Given the description of an element on the screen output the (x, y) to click on. 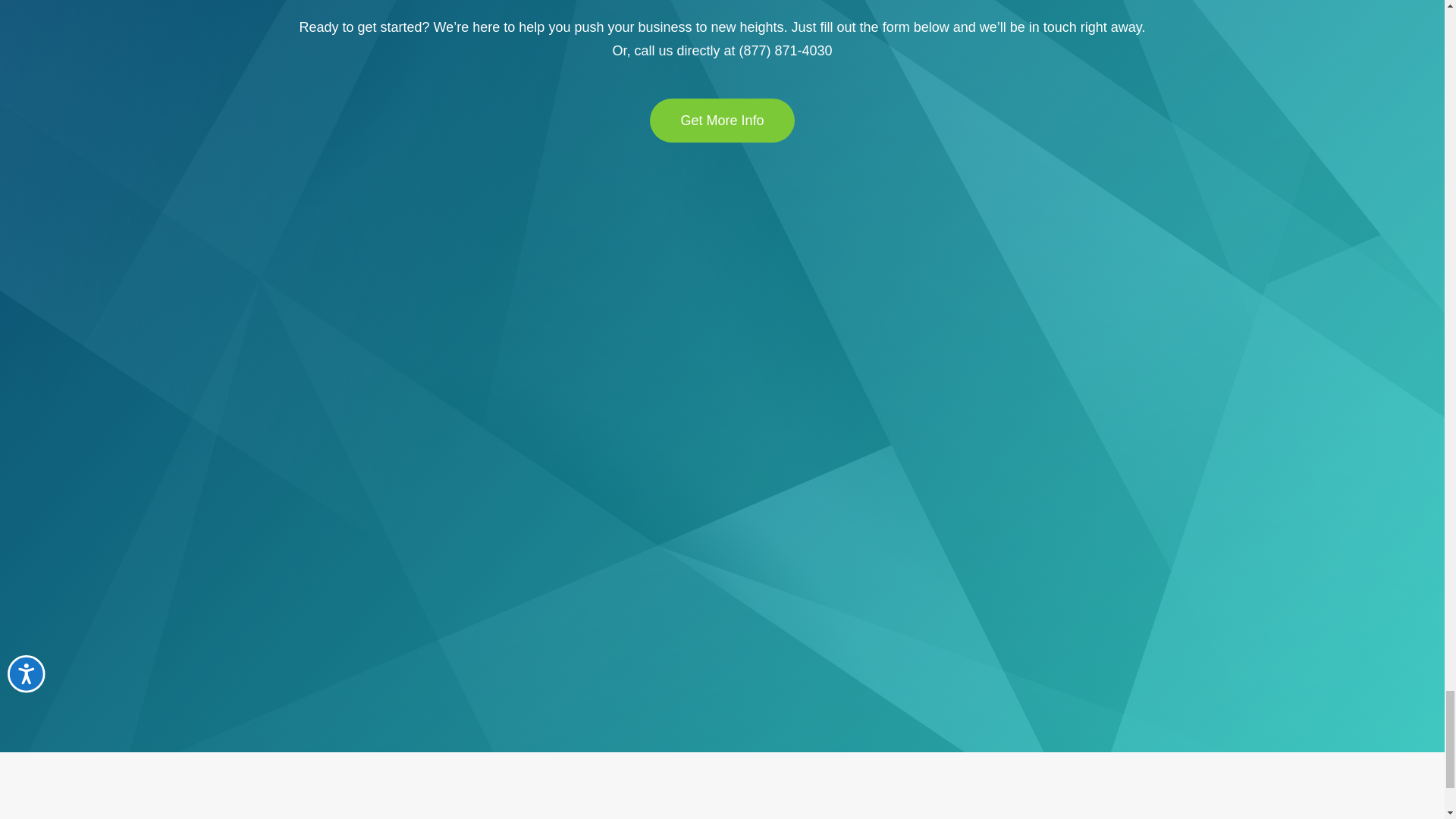
Get More Info (721, 120)
